Given the description of an element on the screen output the (x, y) to click on. 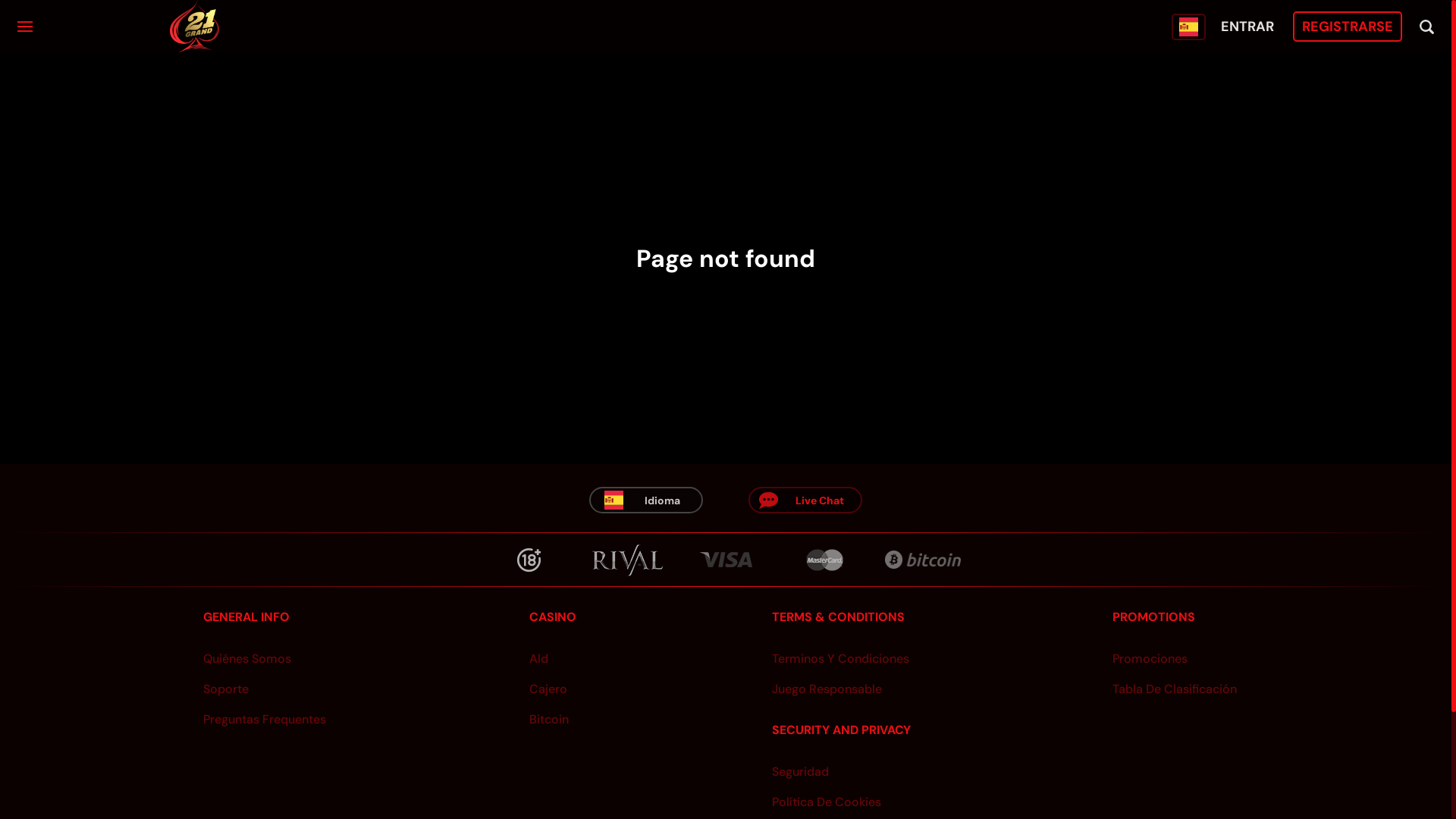
Promociones Element type: text (1174, 657)
REGISTRARSE Element type: text (1347, 26)
Cajero Element type: text (548, 688)
Bitcoin Element type: text (548, 718)
Seguridad Element type: text (840, 770)
Soporte Element type: text (264, 688)
Terminos Y Condiciones Element type: text (840, 657)
Idioma Element type: text (662, 500)
Ald Element type: text (548, 657)
Live Chat Element type: text (819, 500)
Juego Responsable Element type: text (840, 688)
ENTRAR Element type: text (1247, 26)
Preguntas Frequentes Element type: text (264, 718)
